Given the description of an element on the screen output the (x, y) to click on. 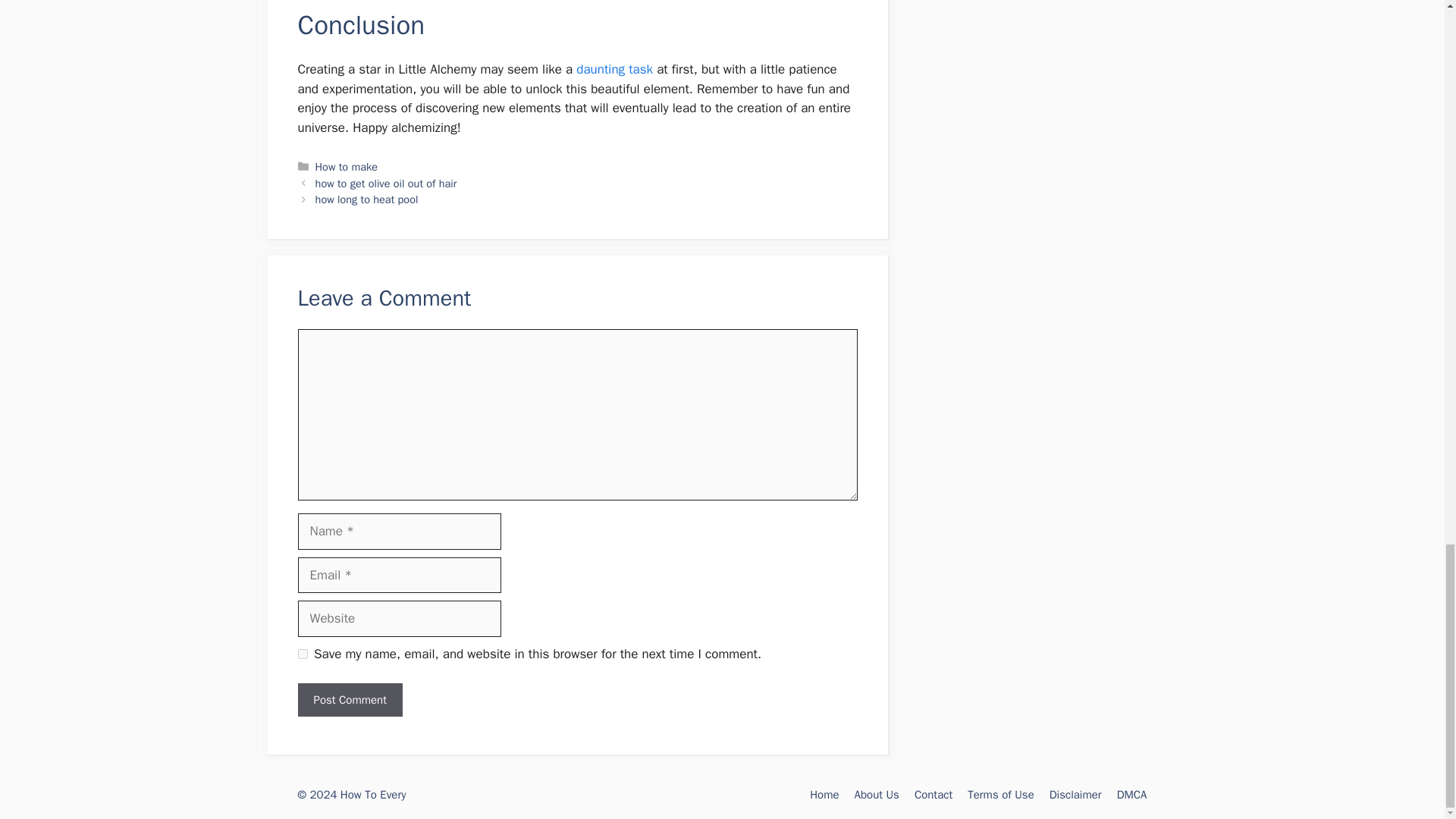
How to make (346, 166)
Post Comment (349, 700)
DMCA (1131, 794)
how to clean burnt dryer grate (614, 68)
Contact (933, 794)
Home (823, 794)
yes (302, 654)
About Us (876, 794)
daunting task (614, 68)
Post Comment (349, 700)
how long to heat pool (367, 199)
Terms of Use (1000, 794)
how to get olive oil out of hair (386, 183)
Disclaimer (1075, 794)
